Given the description of an element on the screen output the (x, y) to click on. 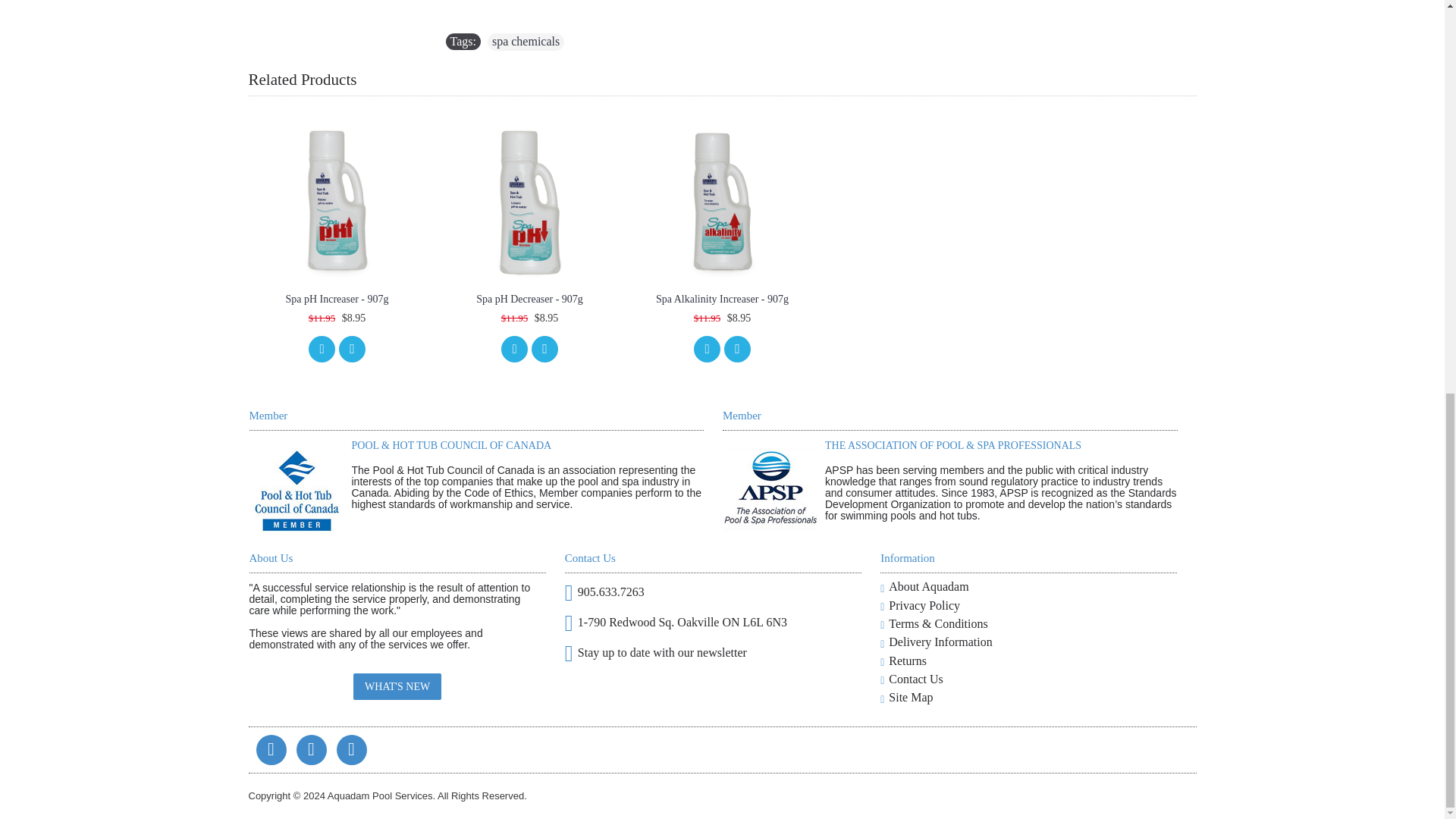
Spa Alkalinity Increaser - 907g (721, 200)
Spa pH Increaser - 907g (336, 200)
Spa pH Decreaser - 907g (529, 200)
